Given the description of an element on the screen output the (x, y) to click on. 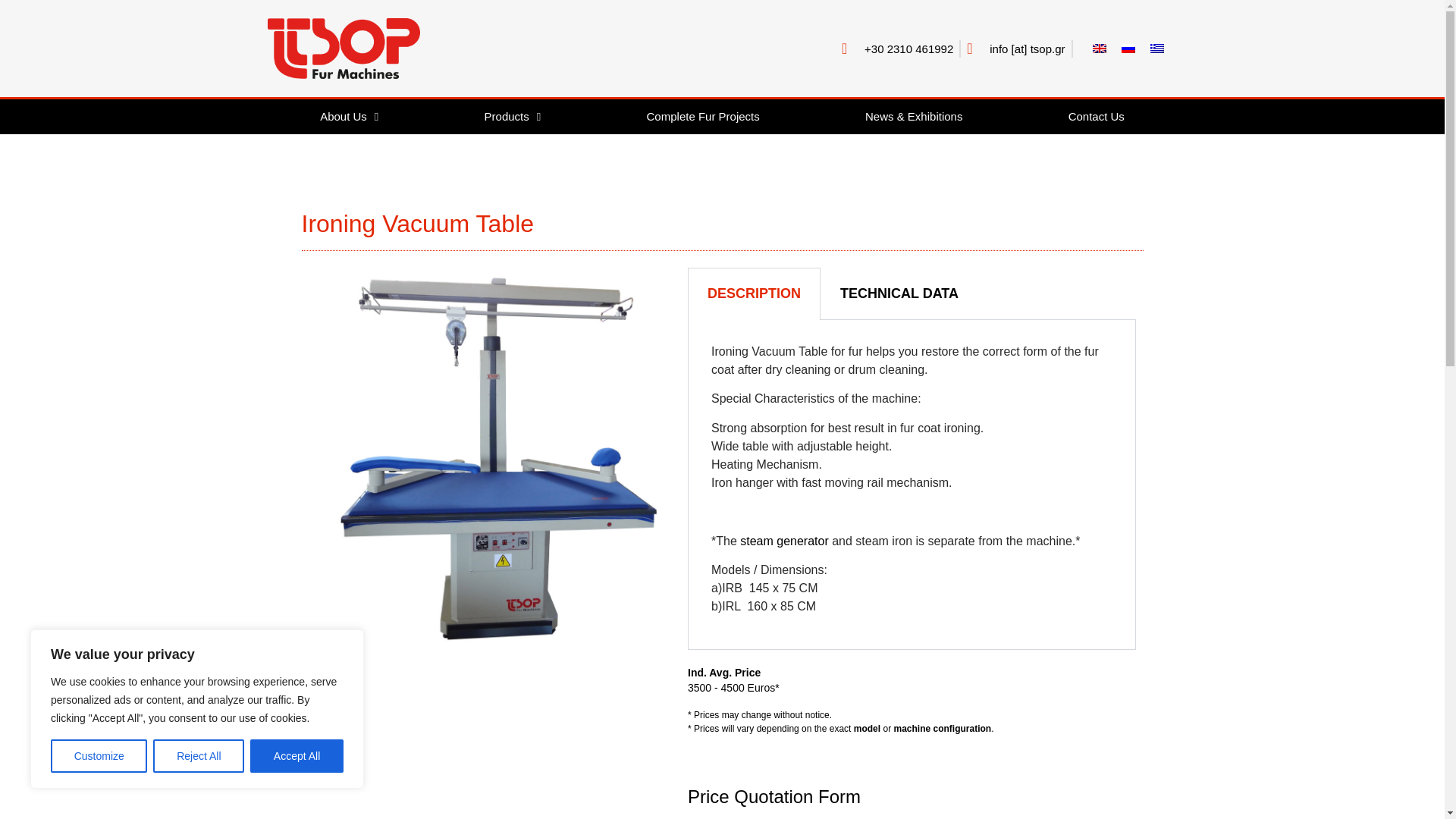
About Us (348, 116)
Reject All (198, 756)
Products (512, 116)
Customize (98, 756)
Complete Fur Projects (703, 116)
Contact Us (1095, 116)
Accept All (296, 756)
